Given the description of an element on the screen output the (x, y) to click on. 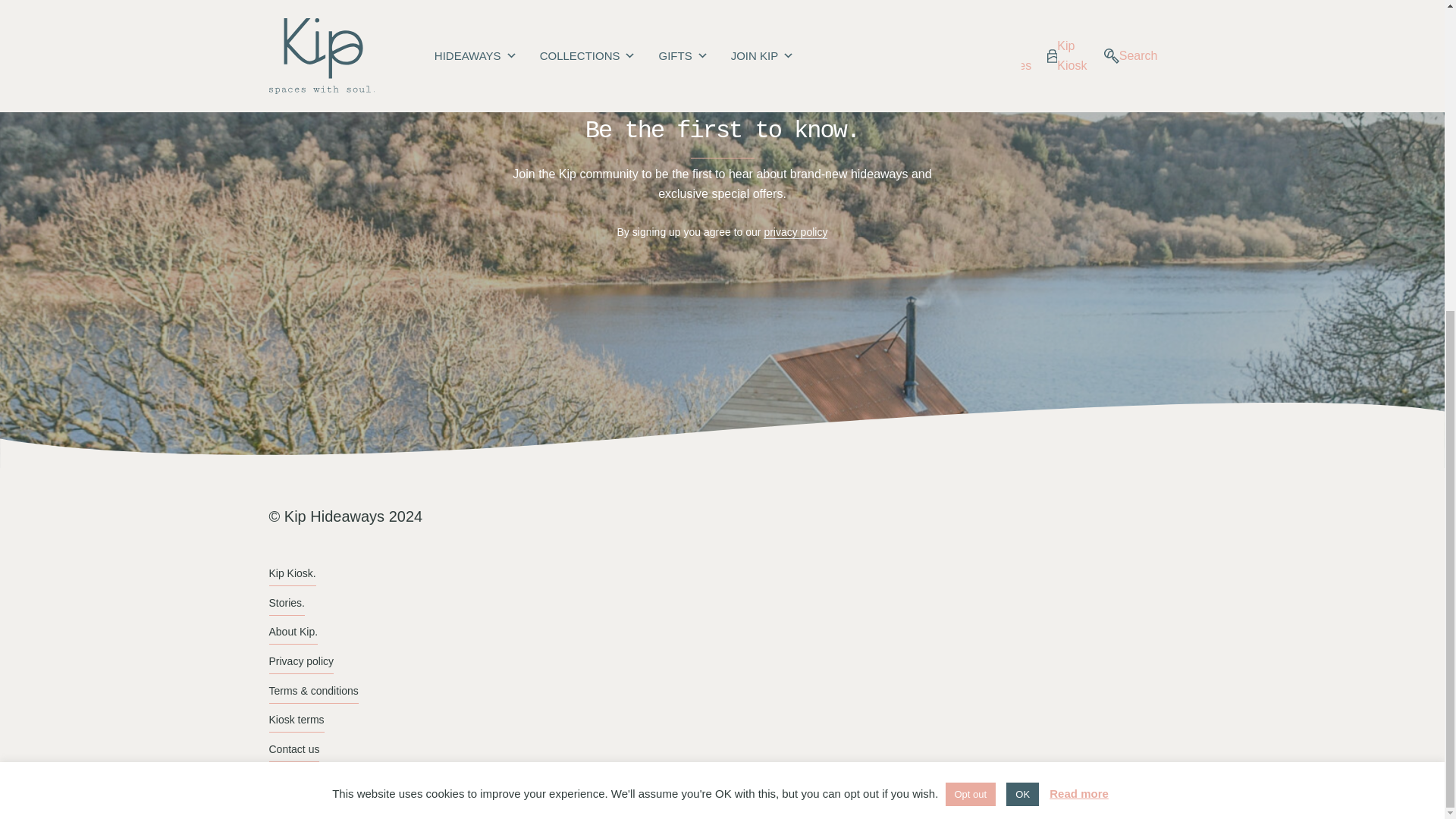
About Kip. (292, 631)
Kiosk terms (295, 719)
Contact us (292, 749)
Stories. (285, 602)
Privacy policy (300, 661)
Kip Kiosk. (291, 573)
